Given the description of an element on the screen output the (x, y) to click on. 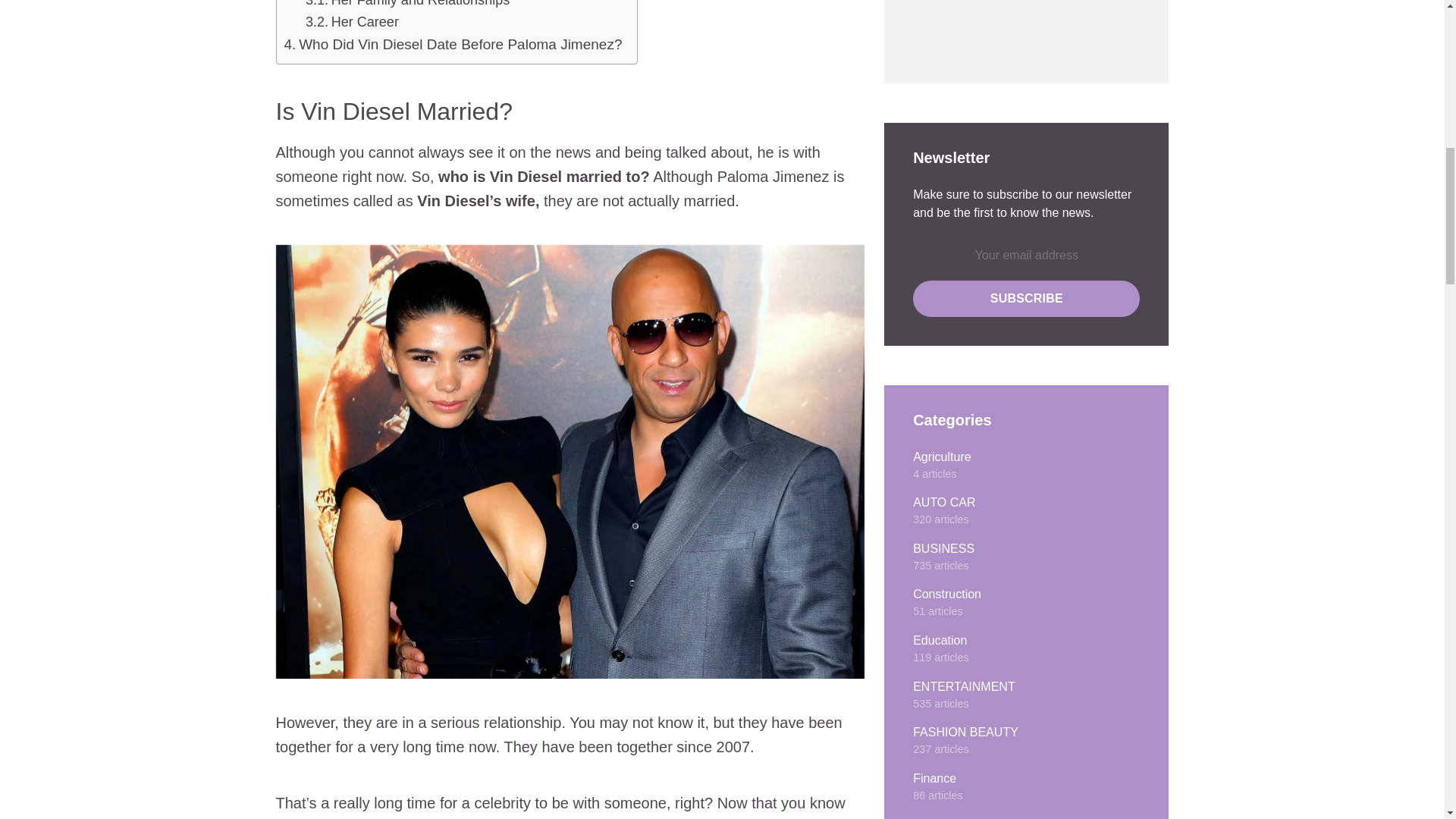
Her Family and Relationships (421, 4)
Her Career (364, 22)
Subscribe (1026, 298)
Advertisement (1009, 27)
Who Did Vin Diesel Date Before Paloma Jimenez? (459, 45)
